Given the description of an element on the screen output the (x, y) to click on. 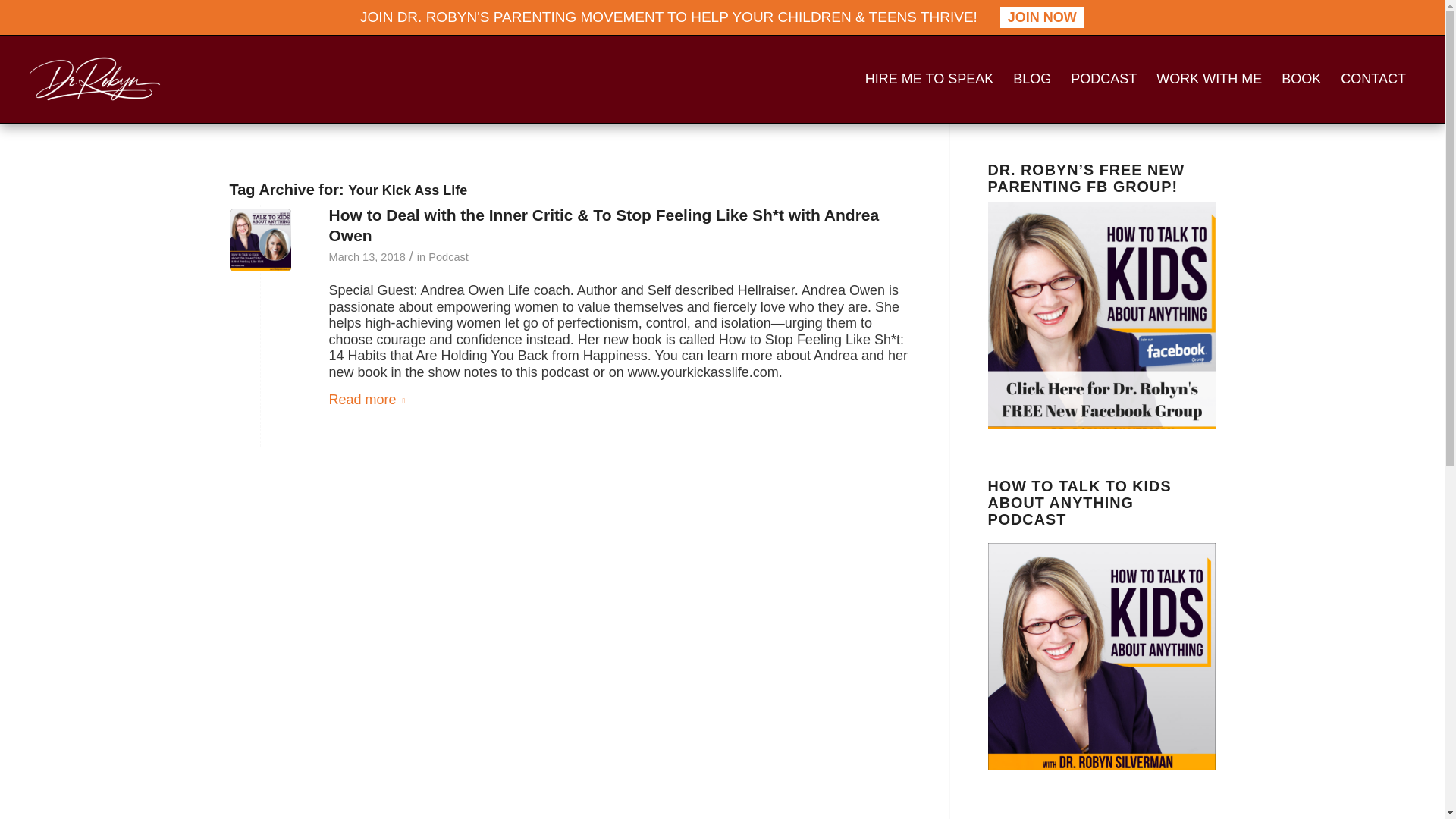
How to Talk to Kids About Anything Podcast (1100, 656)
JOIN NOW (1042, 16)
PODCAST (1104, 78)
CONTACT (1372, 78)
Read more (370, 400)
WORK WITH ME (1209, 78)
HIRE ME TO SPEAK (929, 78)
BLOG (1032, 78)
Podcast (448, 256)
RobynSilverman - PodcastArt - Andrea Owen - 700x700 (258, 240)
BOOK (1300, 78)
